Given the description of an element on the screen output the (x, y) to click on. 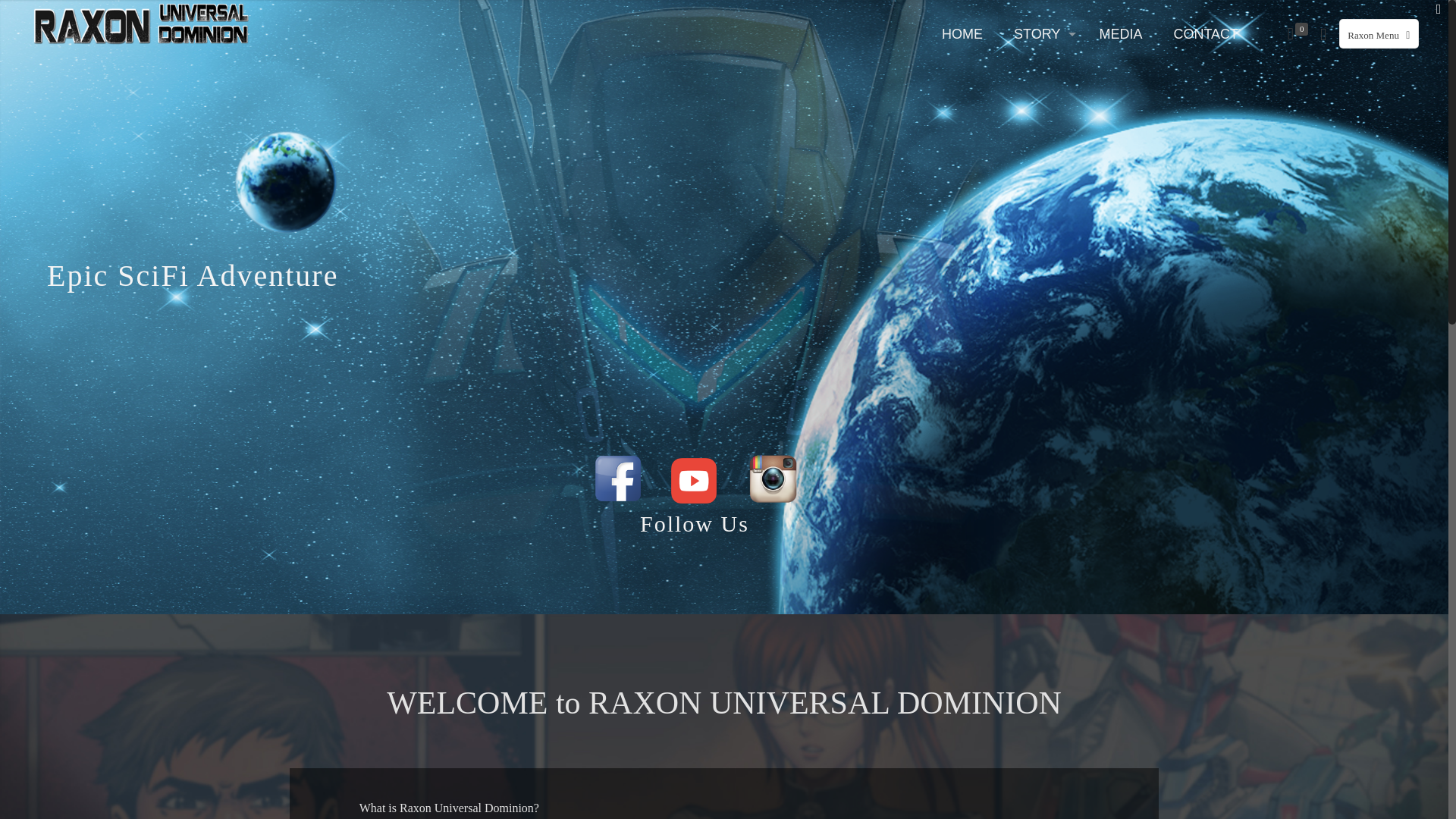
Raxon Dominion (142, 22)
Raxon Menu (1378, 33)
MEDIA (1120, 33)
HOME (962, 33)
STORY (1040, 33)
0 (1296, 34)
CONTACT (1205, 33)
